Given the description of an element on the screen output the (x, y) to click on. 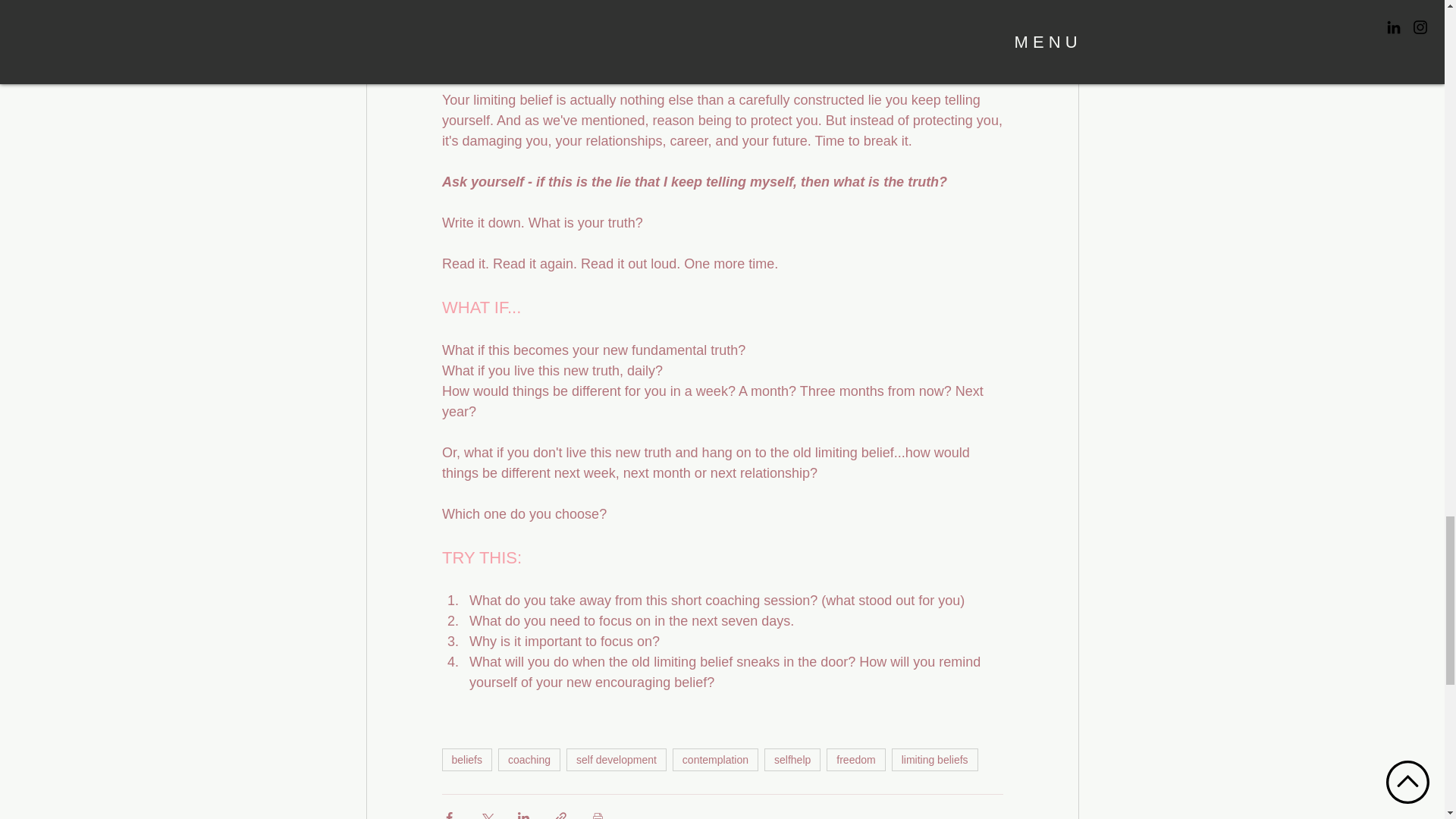
selfhelp (792, 759)
freedom (856, 759)
limiting beliefs (934, 759)
beliefs (466, 759)
self development (616, 759)
contemplation (715, 759)
coaching (528, 759)
